Given the description of an element on the screen output the (x, y) to click on. 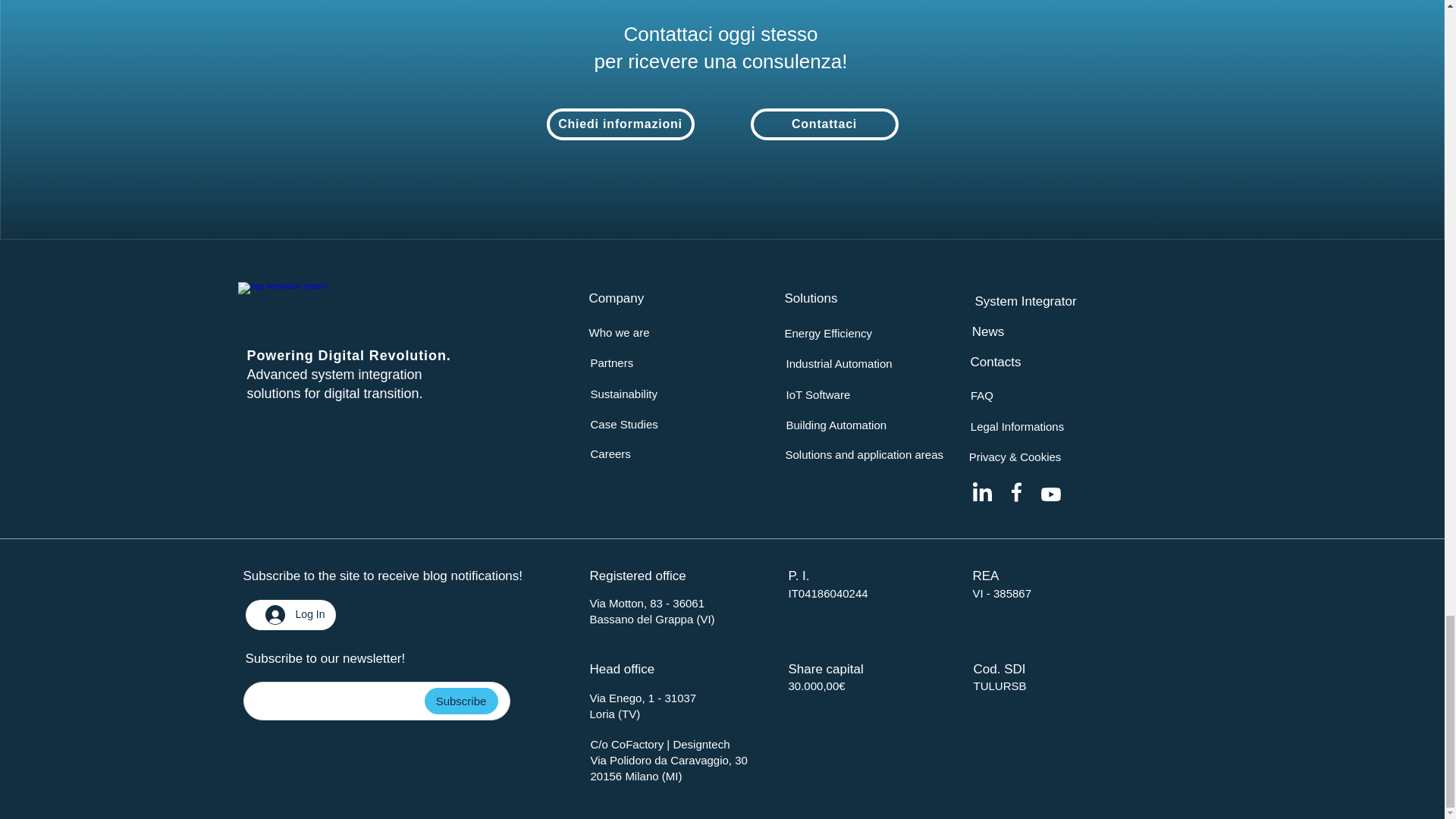
Chiedi informazioni (620, 124)
Who we are (618, 332)
Contattaci (824, 124)
